Given the description of an element on the screen output the (x, y) to click on. 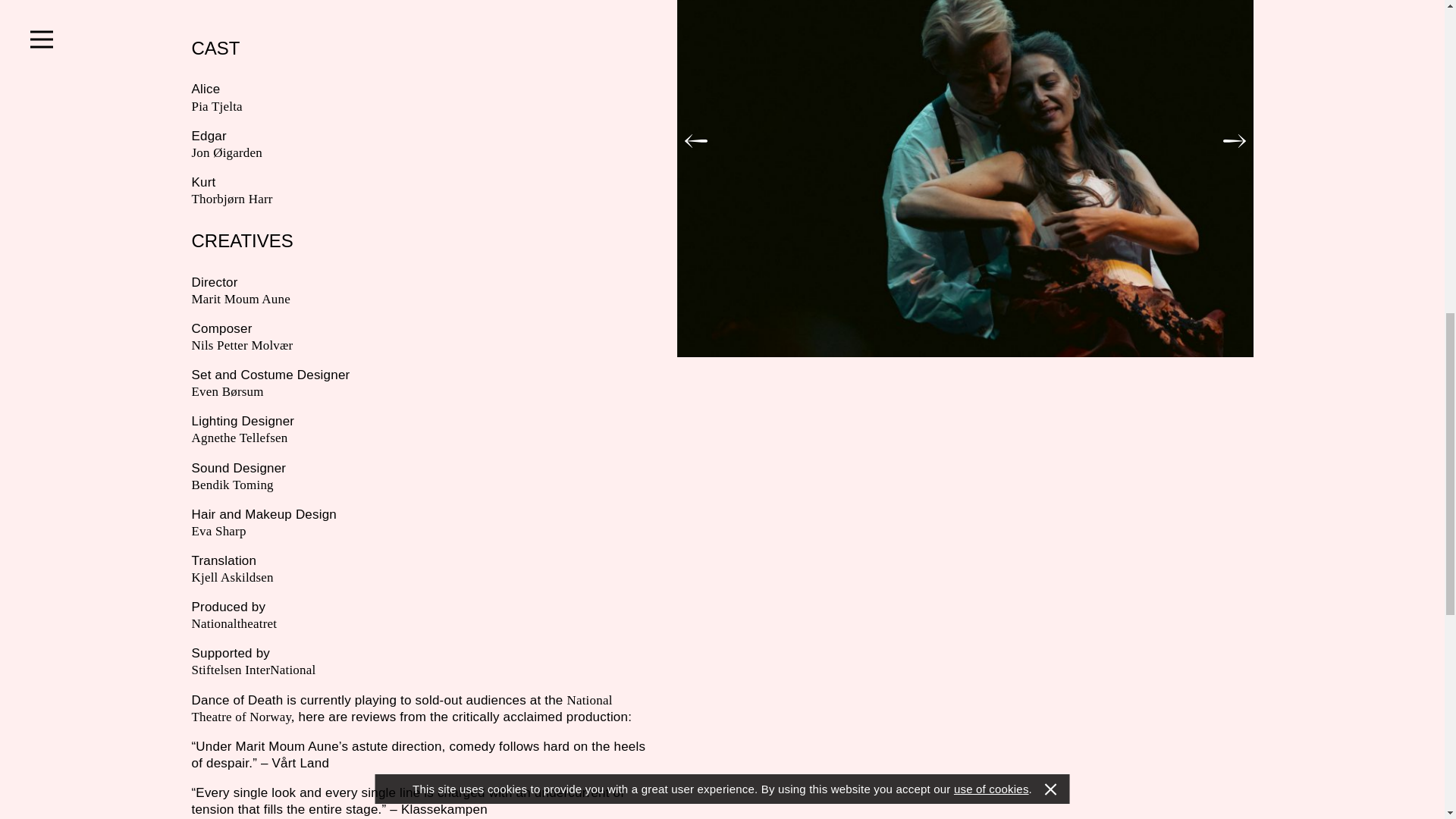
: (1233, 141)
: (695, 141)
: (695, 141)
: (1233, 141)
